Given the description of an element on the screen output the (x, y) to click on. 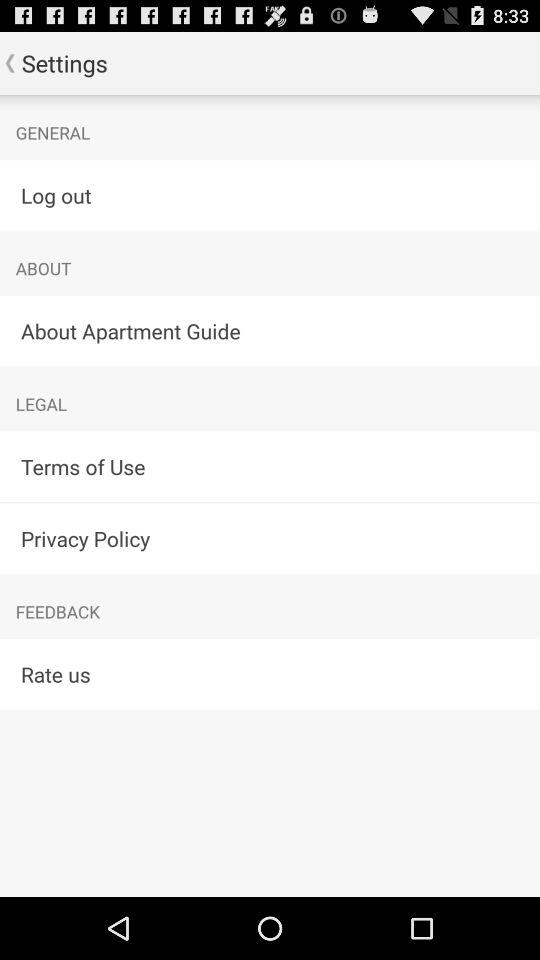
jump to privacy policy item (270, 538)
